Given the description of an element on the screen output the (x, y) to click on. 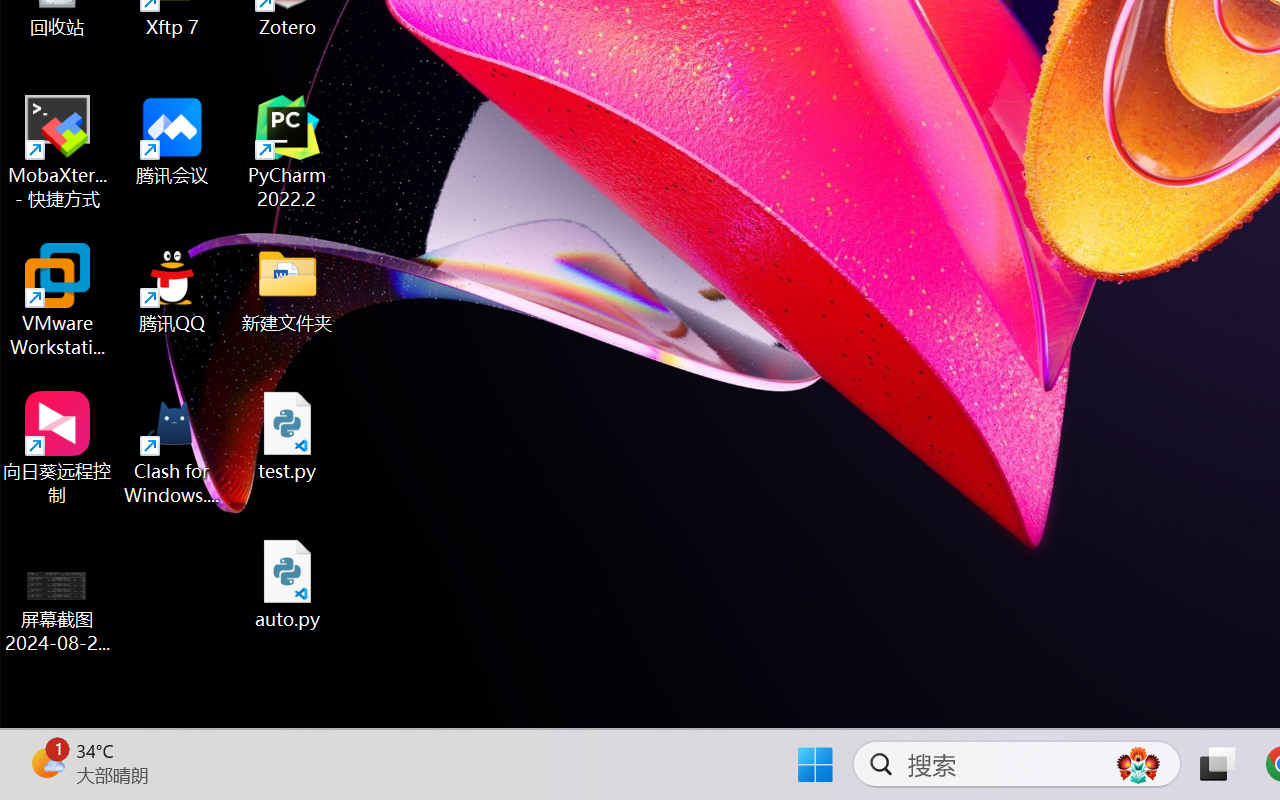
auto.py (287, 584)
PyCharm 2022.2 (287, 152)
test.py (287, 436)
